Given the description of an element on the screen output the (x, y) to click on. 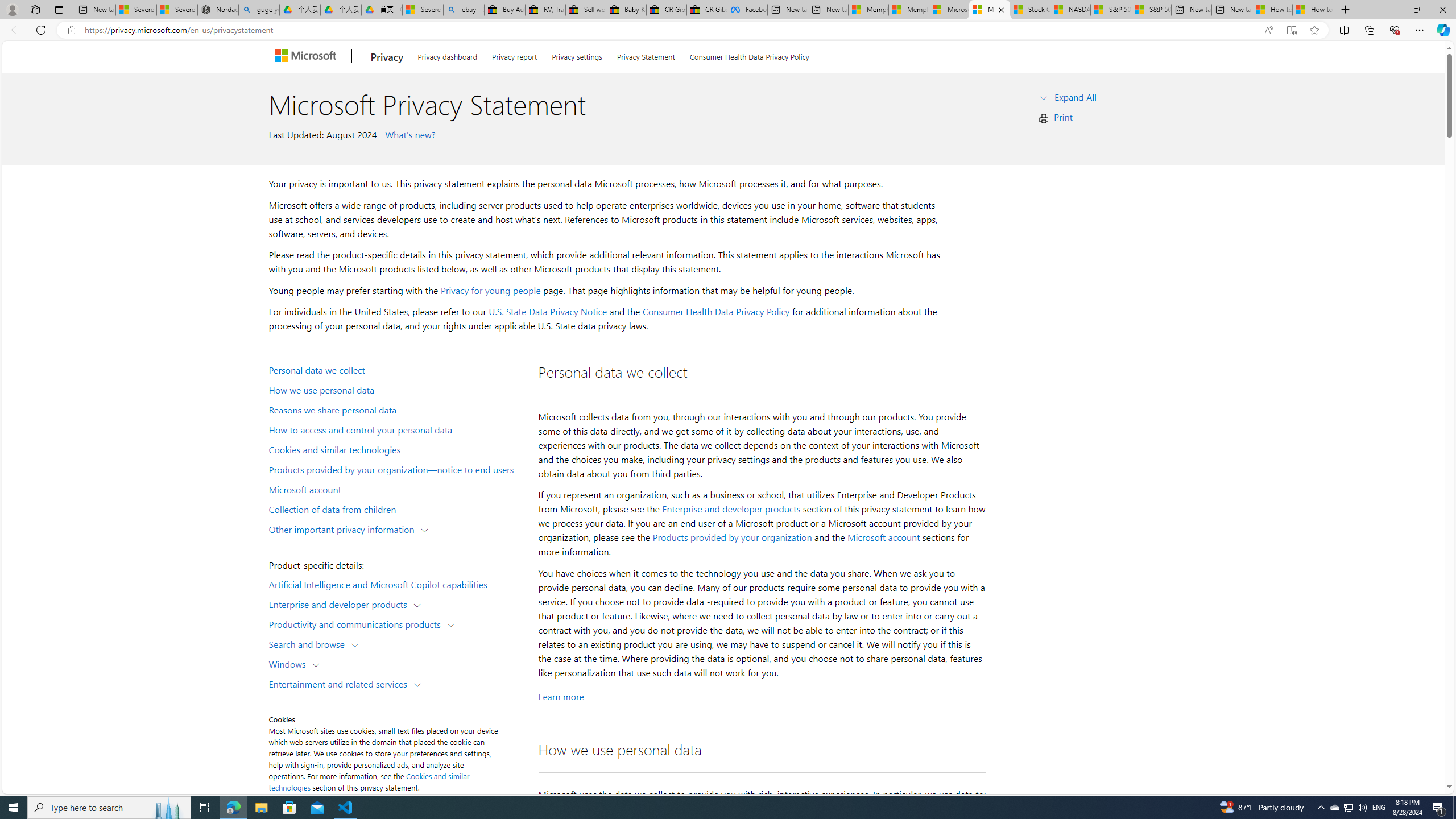
How to access and control your personal data (395, 428)
Privacy Statement (645, 54)
Microsoft (306, 56)
Learn more about Personal data we collect (560, 696)
Privacy for young people (489, 290)
Privacy report (514, 54)
Consumer Health Data Privacy Policy (716, 311)
